Given the description of an element on the screen output the (x, y) to click on. 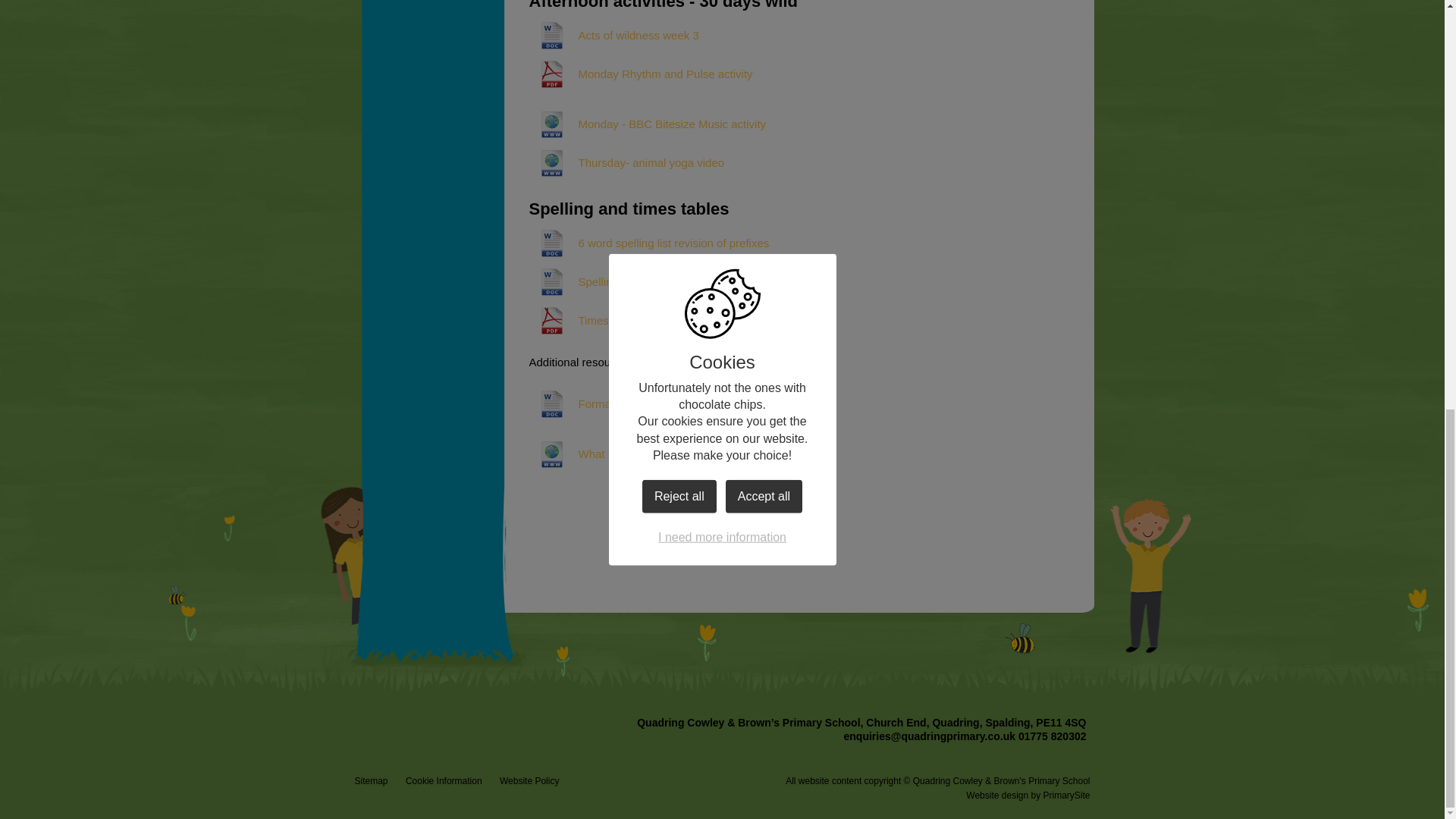
6 word spelling list revision of prefixes (649, 243)
Acts of wildness week 3 (613, 35)
Times table practice (604, 320)
Thursday- animal yoga video (627, 162)
What is a balanced argument (627, 453)
Monday - BBC Bitesize Music activity (648, 124)
Monday Rhythm and Pulse activity (640, 73)
Spelling practise revision of prefixes (644, 281)
Formal letter planning sheet (624, 403)
